Given the description of an element on the screen output the (x, y) to click on. 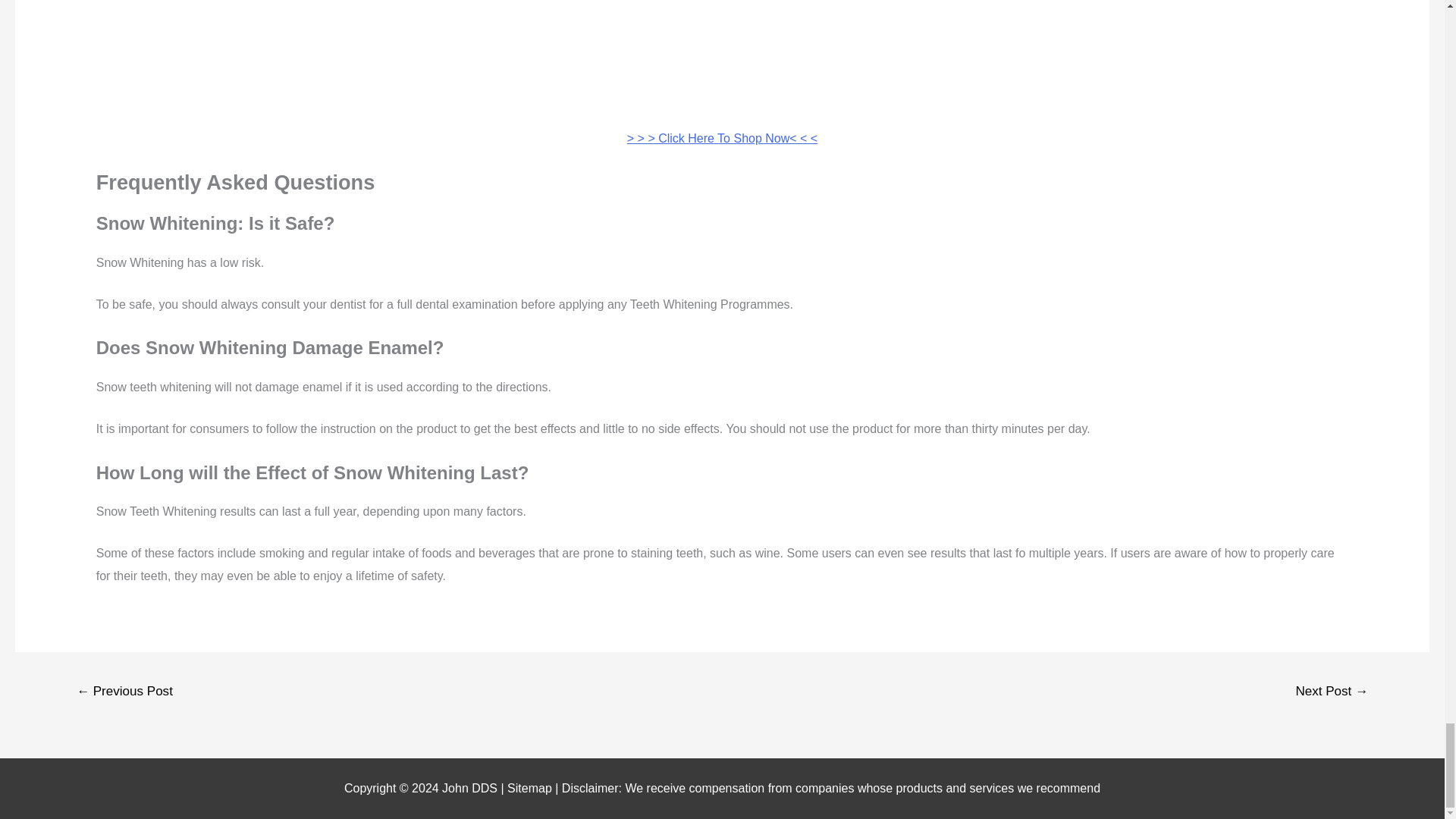
Sitemap (530, 788)
